Given the description of an element on the screen output the (x, y) to click on. 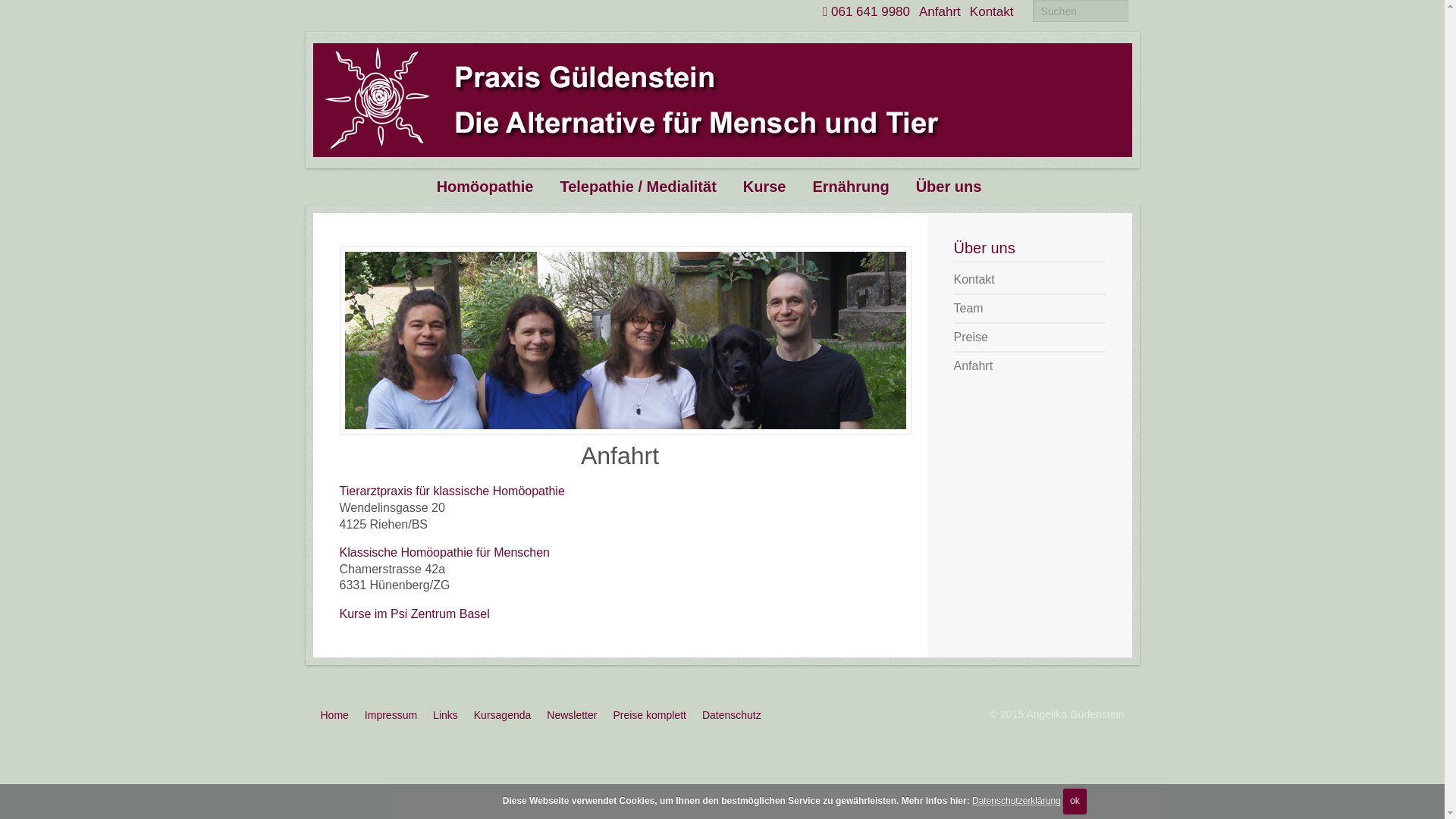
Newsletter Element type: text (572, 714)
Preise komplett Element type: text (649, 714)
Kontakt Element type: text (1029, 279)
ok Element type: text (1074, 801)
Preise Element type: text (1029, 337)
Kursagenda Element type: text (502, 714)
Datenschutz Element type: text (731, 714)
Anfahrt Element type: text (1029, 365)
Impressum Element type: text (391, 714)
Home Element type: text (334, 714)
Team Element type: text (1029, 308)
Kurse im Psi Zentrum Basel Element type: text (414, 613)
Kontakt Element type: text (991, 11)
Links Element type: text (445, 714)
Kurse Element type: text (777, 182)
Anfahrt Element type: text (939, 11)
